Given the description of an element on the screen output the (x, y) to click on. 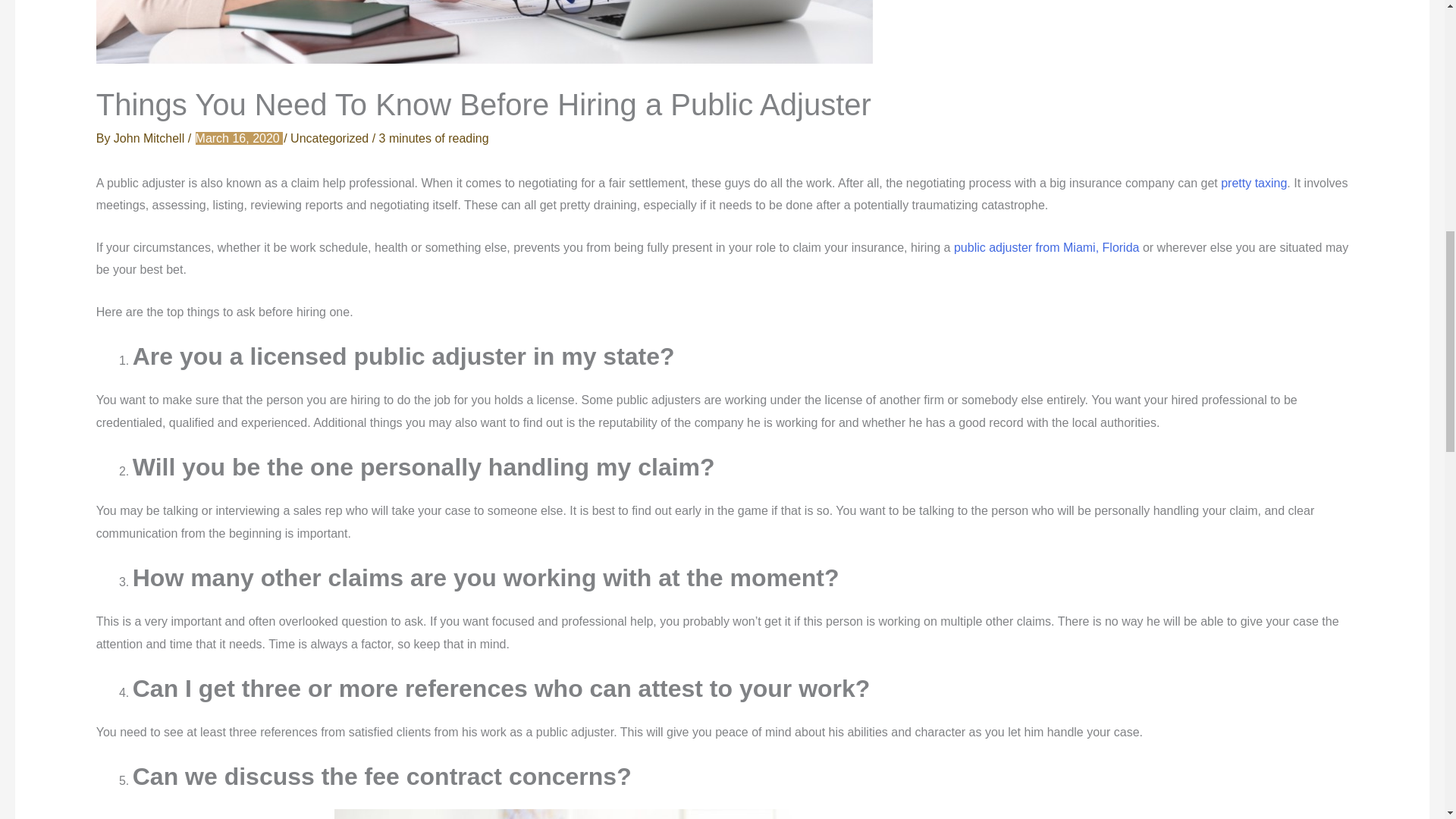
 pretty taxing (1252, 182)
Investopedia (1252, 182)
View all posts by John Mitchell (150, 137)
public adjuster from Miami, Florida  (1047, 246)
Munra Public Adjusters (1047, 246)
Uncategorized (328, 137)
John Mitchell (150, 137)
